Given the description of an element on the screen output the (x, y) to click on. 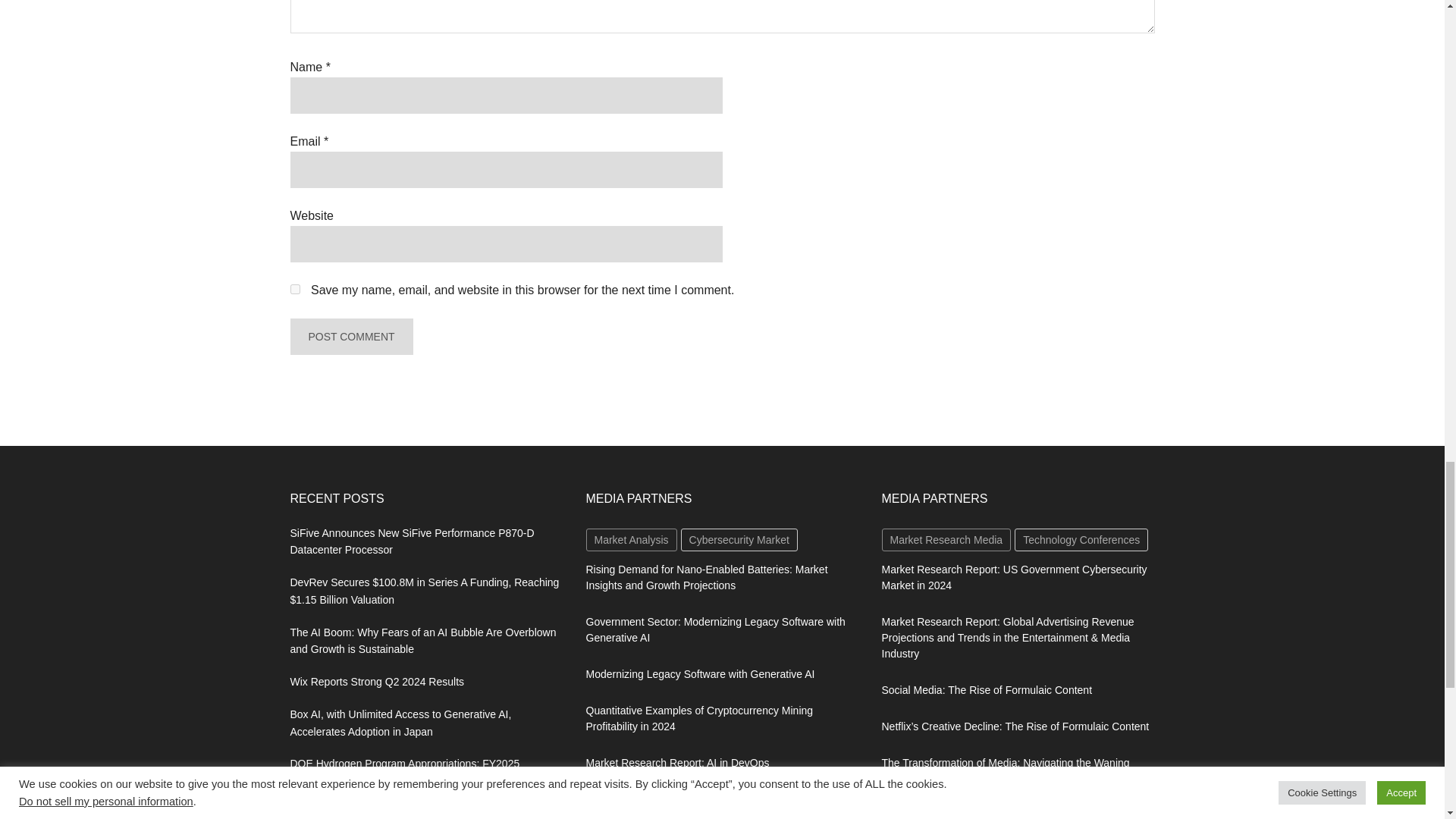
Modernizing Legacy Software with Generative AI (699, 674)
DOE Hydrogen Program Appropriations: FY2025 (404, 763)
Modernizing Legacy Software with Generative AI (699, 674)
Wix Reports Strong Q2 2024 Results (376, 681)
Market Research Report: AI in DevOps (676, 762)
